Given the description of an element on the screen output the (x, y) to click on. 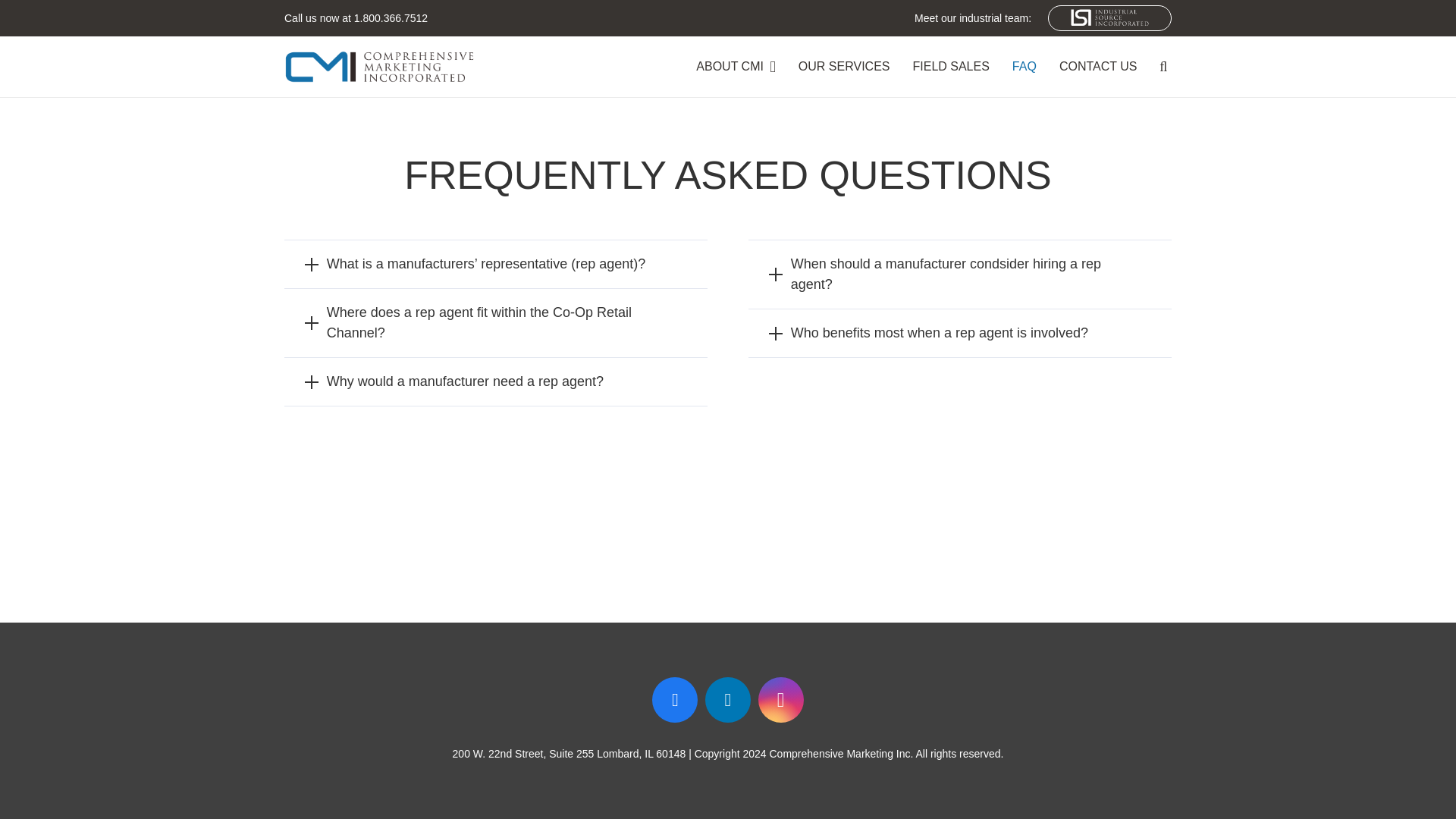
Where does a rep agent fit within the Co-Op Retail Channel? (495, 323)
FIELD SALES (950, 66)
Who benefits most when a rep agent is involved? (960, 333)
1.800.366.7512 (390, 18)
ABOUT CMI (735, 66)
Why would a manufacturer need a rep agent? (495, 381)
OUR SERVICES (844, 66)
Facebook (674, 699)
LinkedIn (727, 699)
CONTACT US (1098, 66)
Instagram (780, 699)
When should a manufacturer condsider hiring a rep agent? (960, 274)
